Given the description of an element on the screen output the (x, y) to click on. 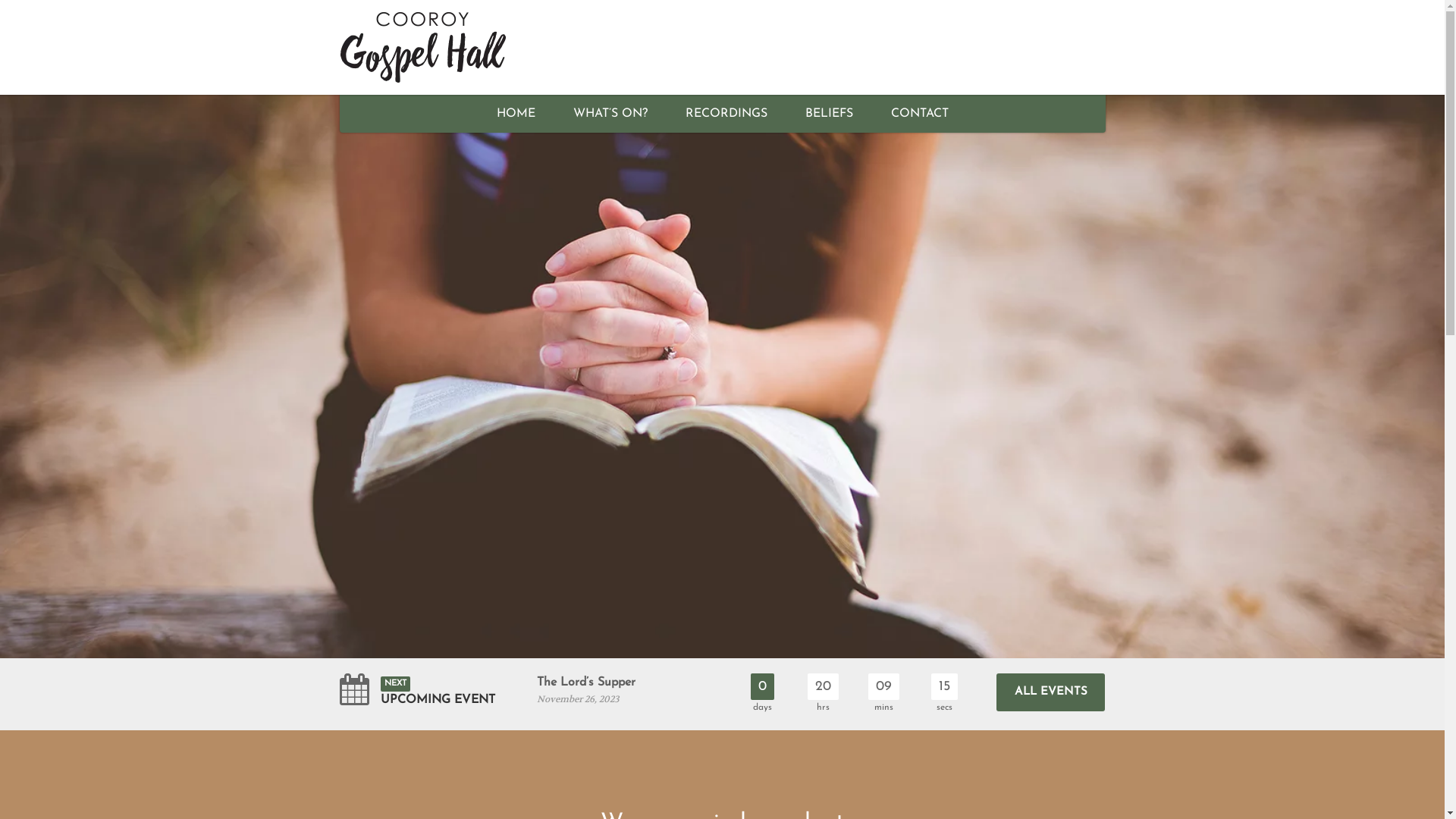
HOME Element type: text (515, 113)
CONTACT Element type: text (919, 113)
BELIEFS Element type: text (828, 113)
RECORDINGS Element type: text (725, 113)
ALL EVENTS Element type: text (1050, 692)
Cooroy Gospel Hall Logo Element type: hover (459, 47)
